Given the description of an element on the screen output the (x, y) to click on. 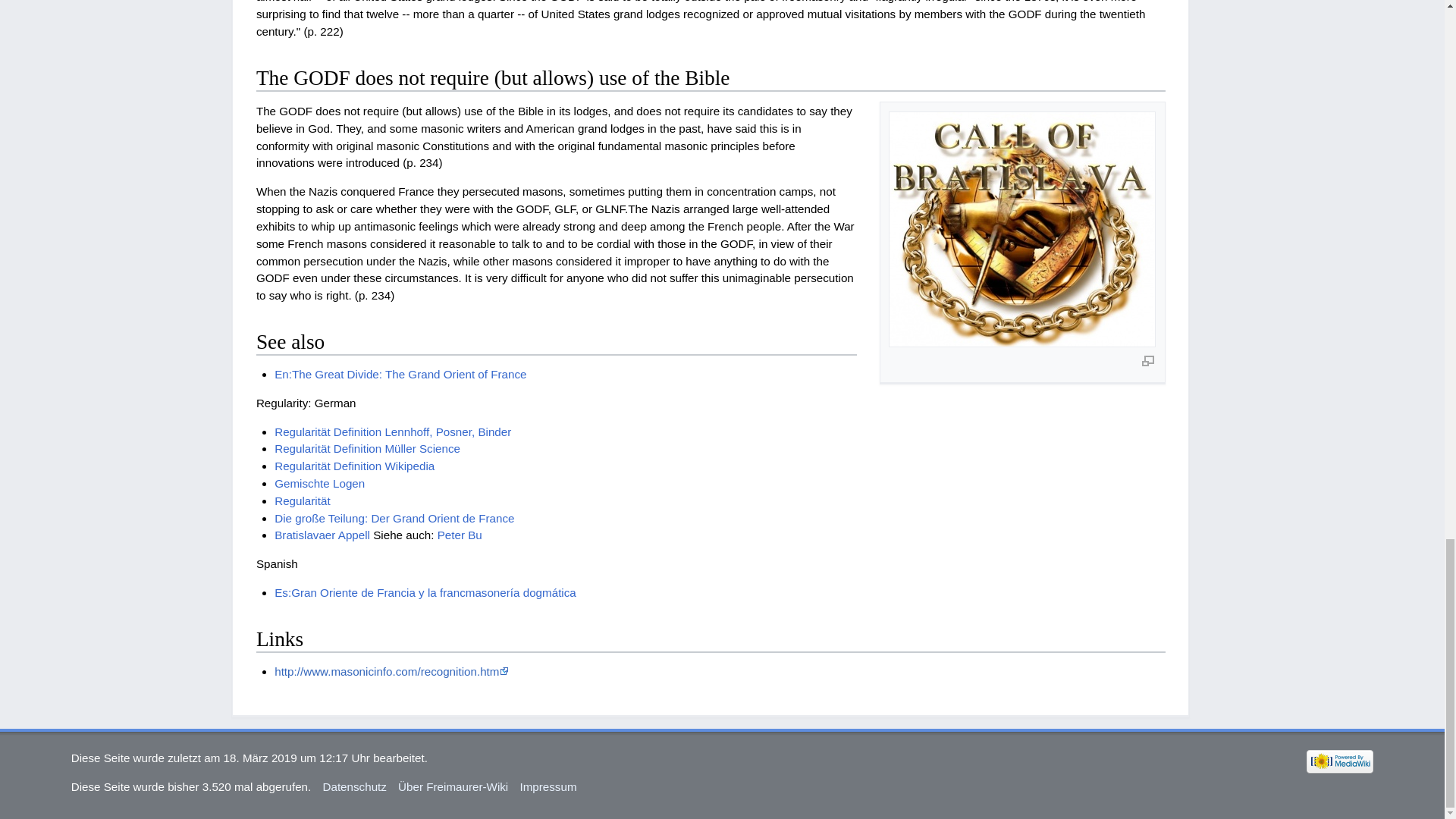
En:The Great Divide: The Grand Orient of France (400, 373)
Bratislavaer Appell (322, 534)
Gemischte Logen (320, 482)
Bratislavaer Appell (322, 534)
En:The Great Divide: The Grand Orient of France (400, 373)
Peter Bu (459, 534)
Gemischte Logen (320, 482)
